Given the description of an element on the screen output the (x, y) to click on. 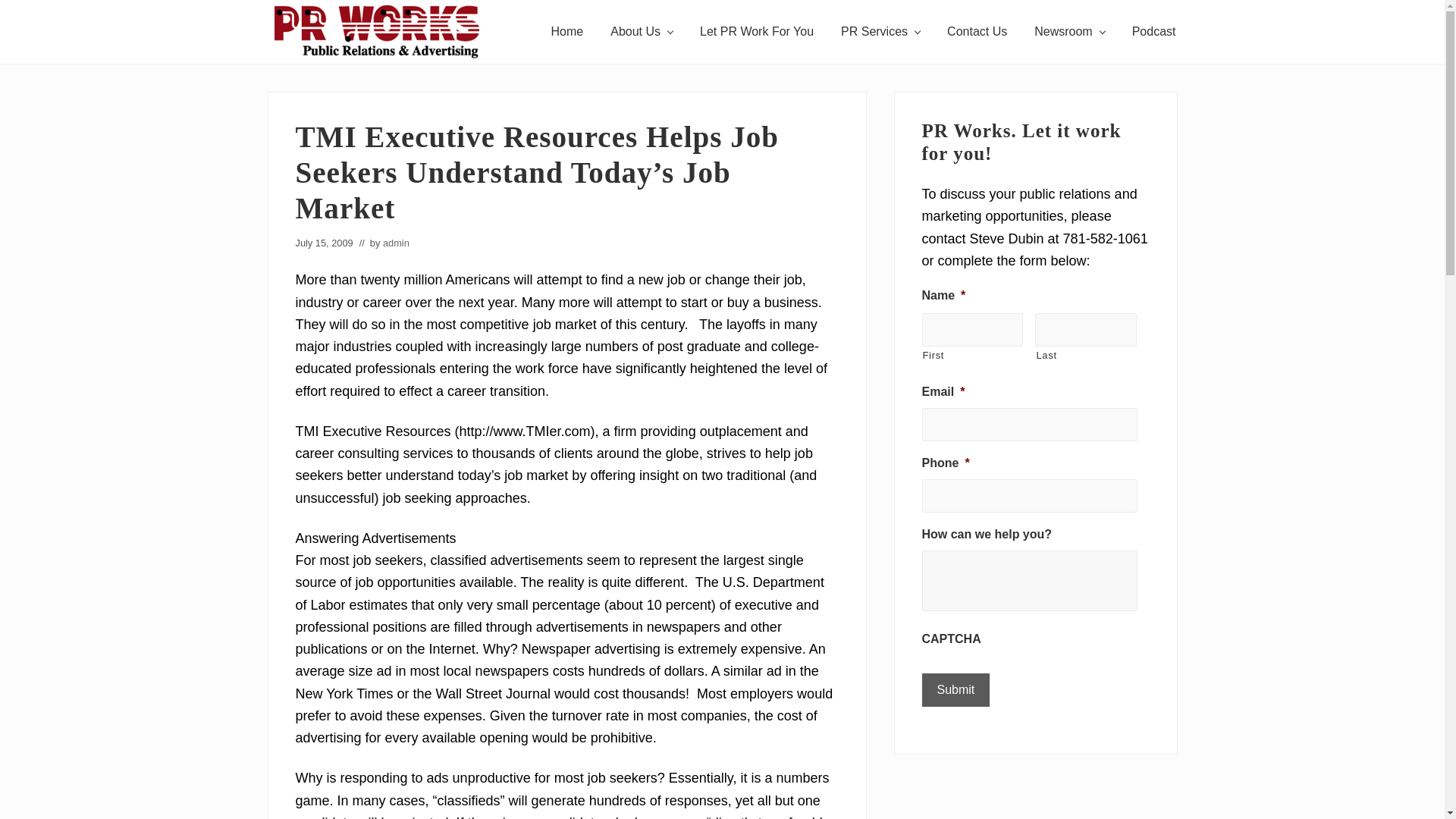
PR Services (879, 31)
Submit (955, 689)
Home (566, 31)
Contact Us (976, 31)
Let PR Work For You (756, 31)
Newsroom (1069, 31)
About Us (641, 31)
